Given the description of an element on the screen output the (x, y) to click on. 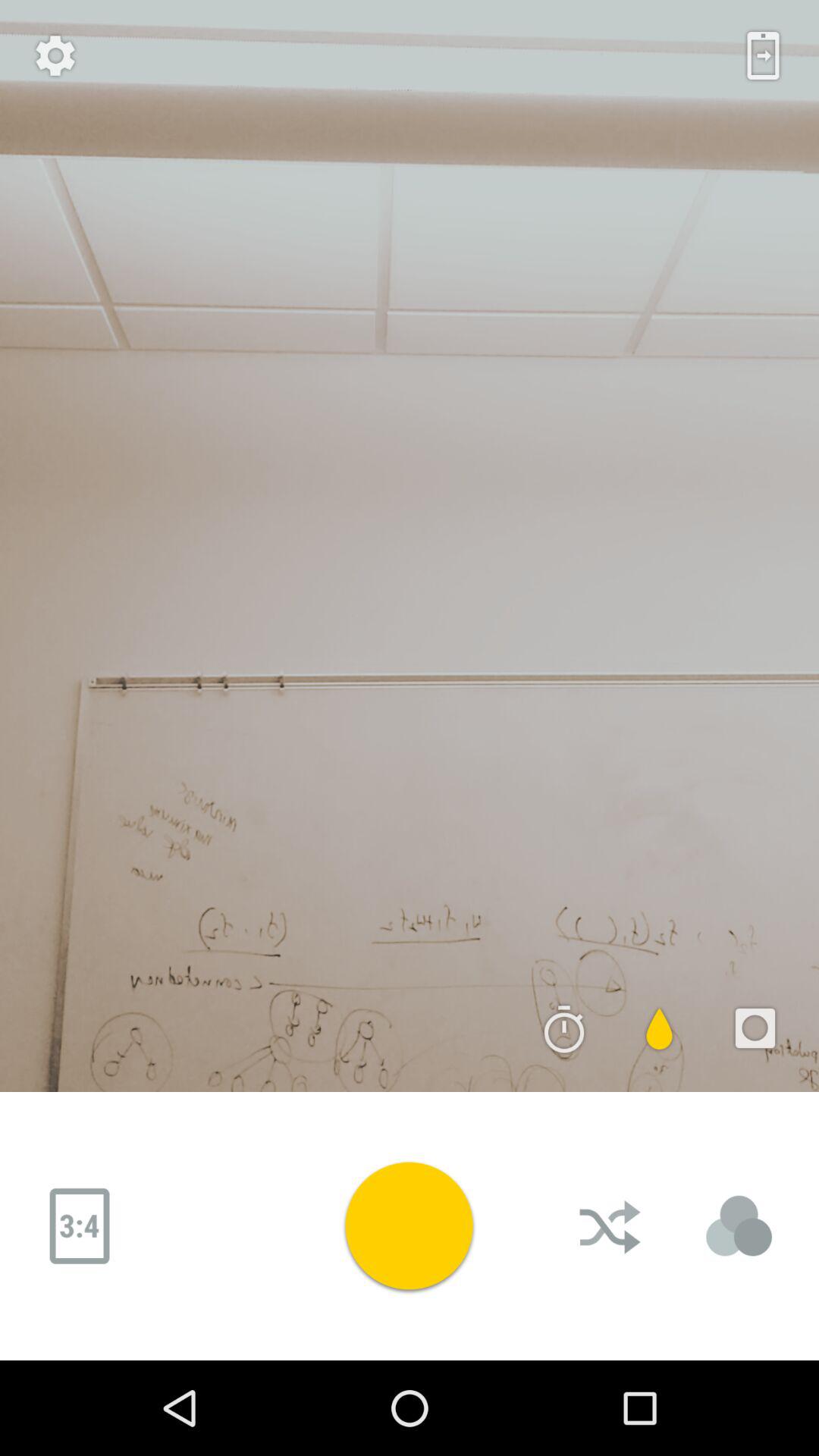
open the timer (563, 1028)
